Given the description of an element on the screen output the (x, y) to click on. 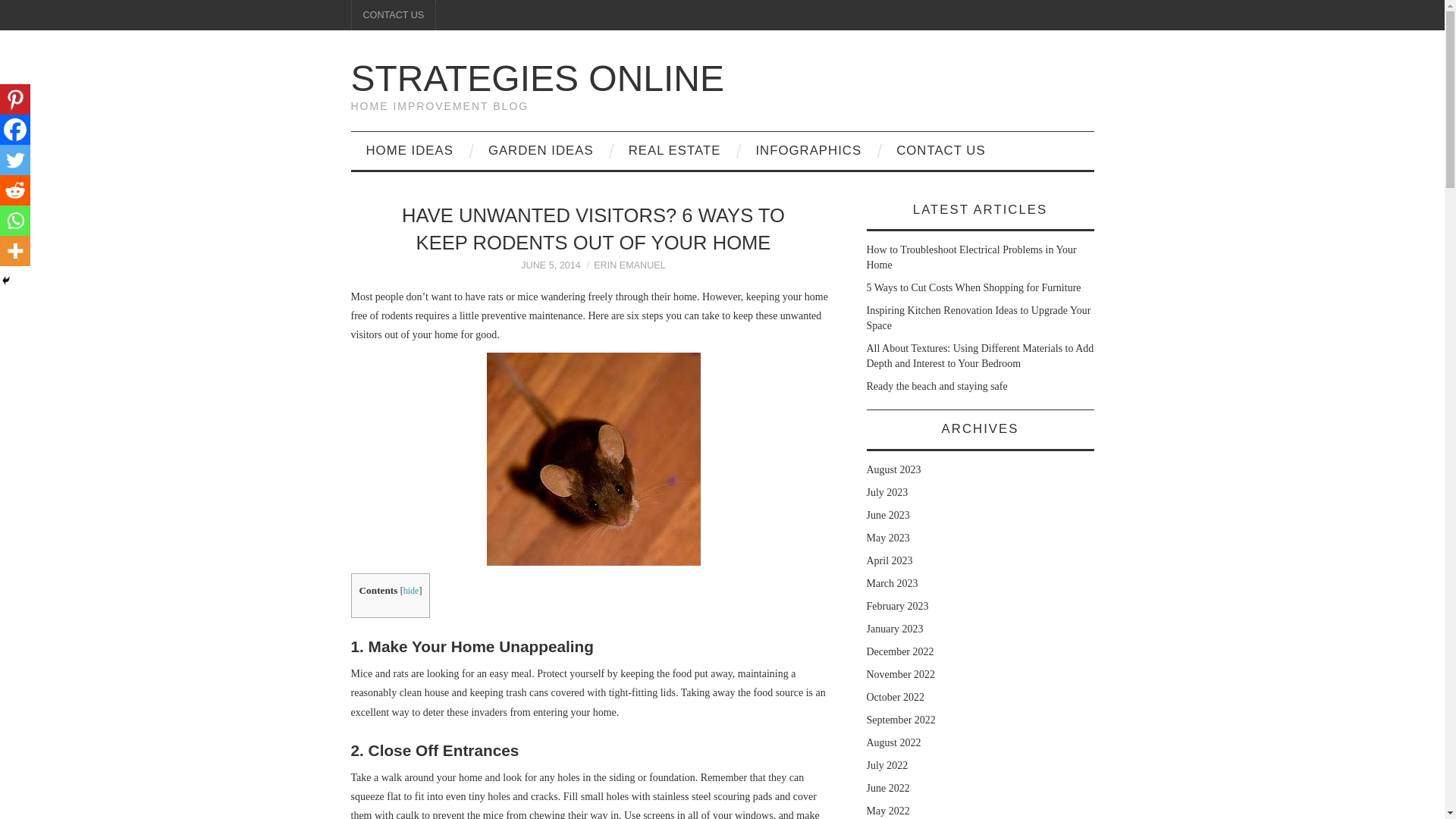
Twitter (15, 159)
Facebook (15, 129)
Reddit (15, 190)
CONTACT US (940, 150)
Whatsapp (15, 220)
INFOGRAPHICS (807, 150)
More (15, 250)
REAL ESTATE (674, 150)
Hide (5, 280)
